Given the description of an element on the screen output the (x, y) to click on. 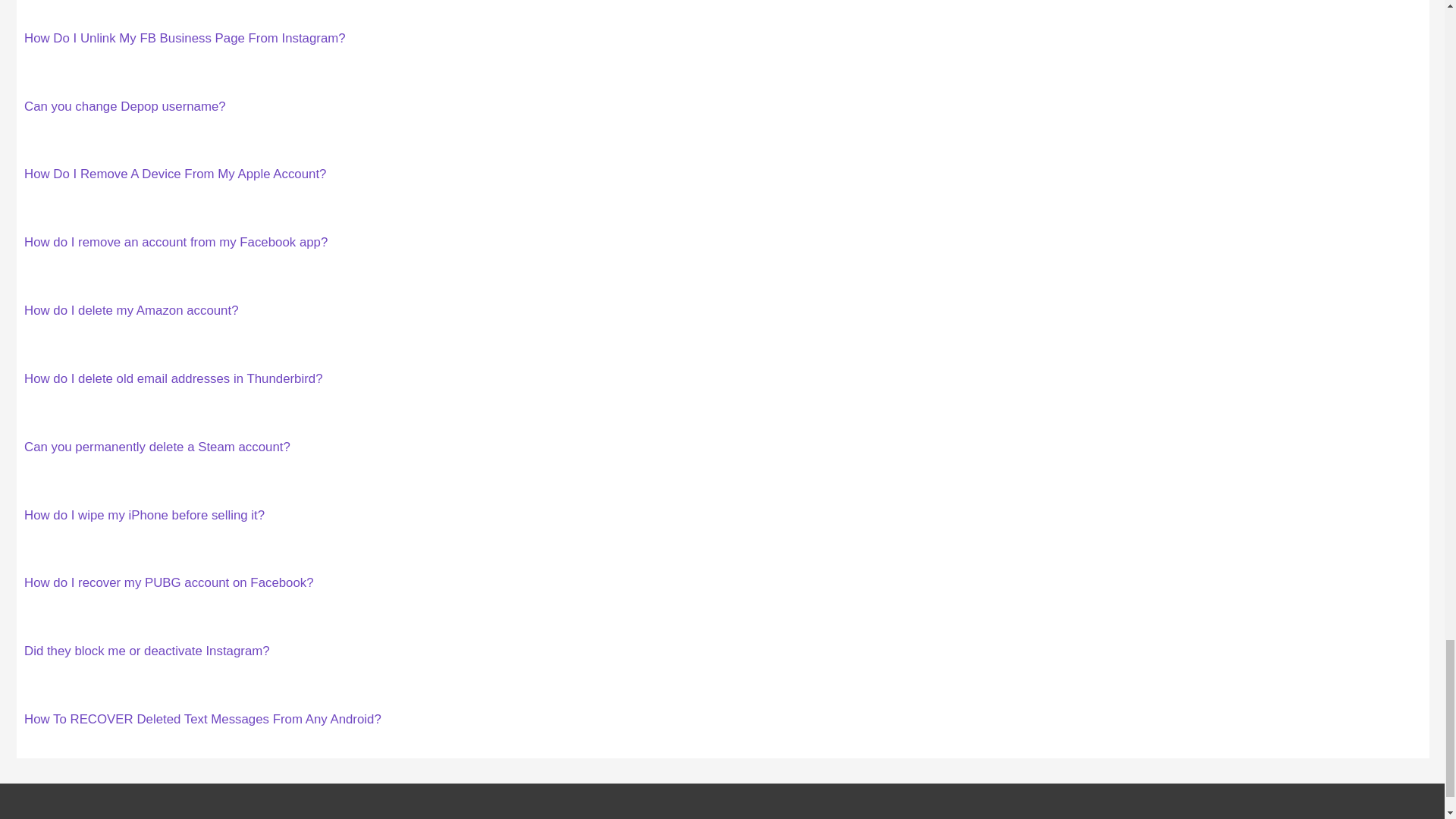
Did they block me or deactivate Instagram? (146, 650)
How Do I Remove A Device From My Apple Account? (175, 173)
How do I remove an account from my Facebook app? (175, 242)
Can you permanently delete a Steam account? (156, 446)
How do I wipe my iPhone before selling it? (144, 514)
How do I delete old email addresses in Thunderbird? (173, 378)
How To RECOVER Deleted Text Messages From Any Android? (202, 718)
How do I recover my PUBG account on Facebook? (169, 582)
How do I delete my Amazon account? (131, 310)
How Do I Unlink My FB Business Page From Instagram? (185, 38)
